Given the description of an element on the screen output the (x, y) to click on. 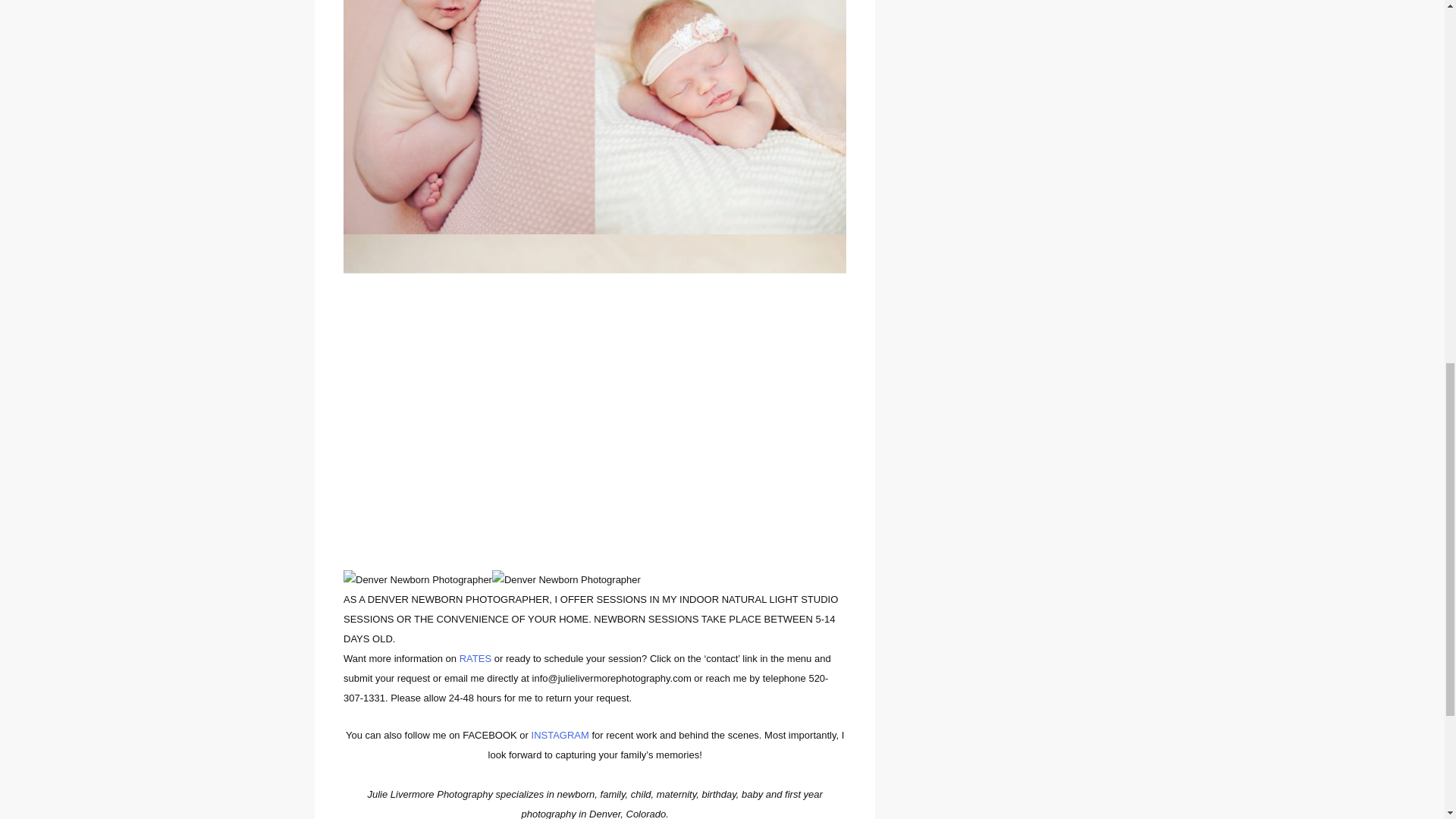
RATES (476, 658)
INSTAGRAM (560, 735)
